Given the description of an element on the screen output the (x, y) to click on. 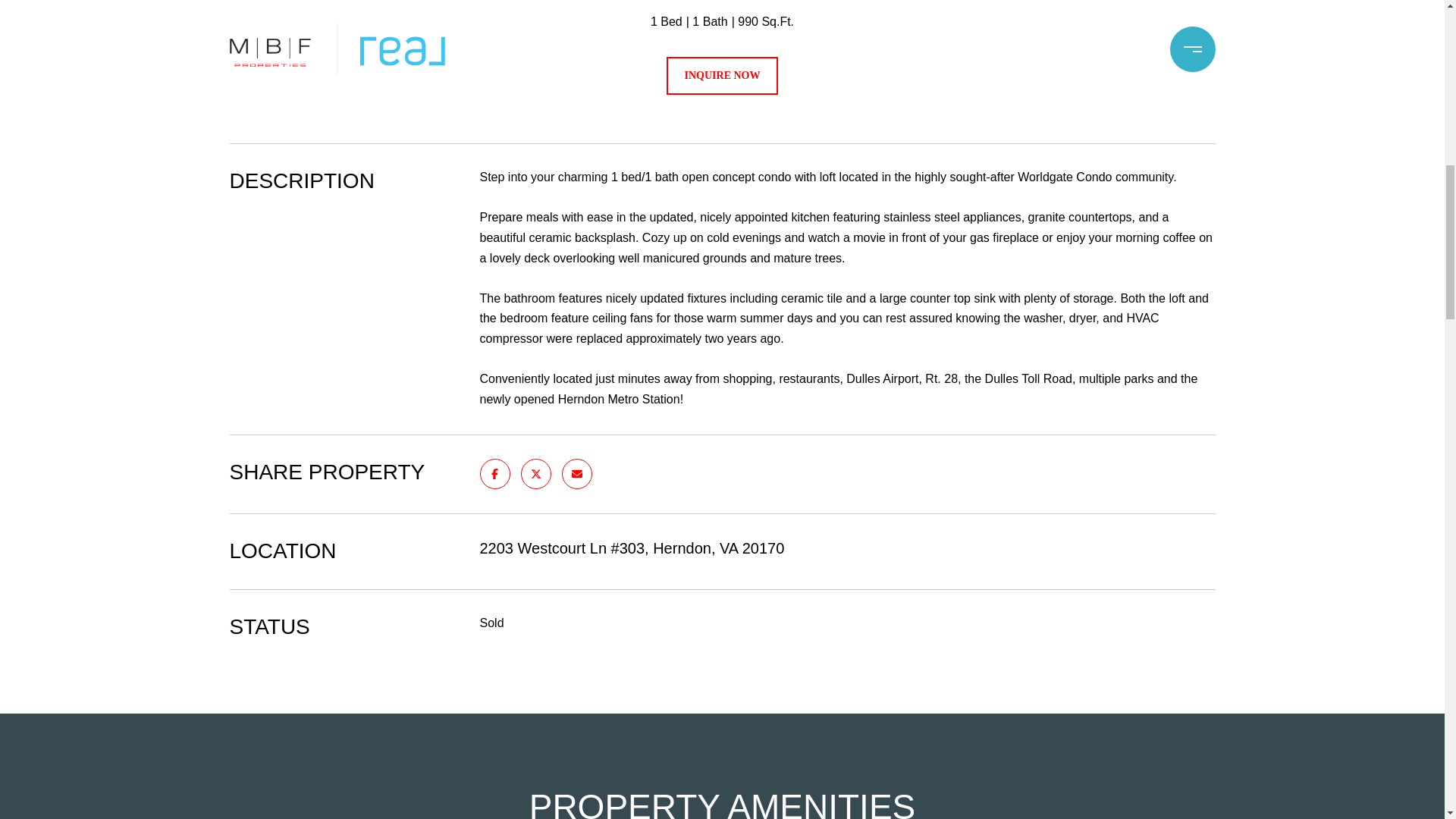
INQUIRE NOW (722, 75)
